Given the description of an element on the screen output the (x, y) to click on. 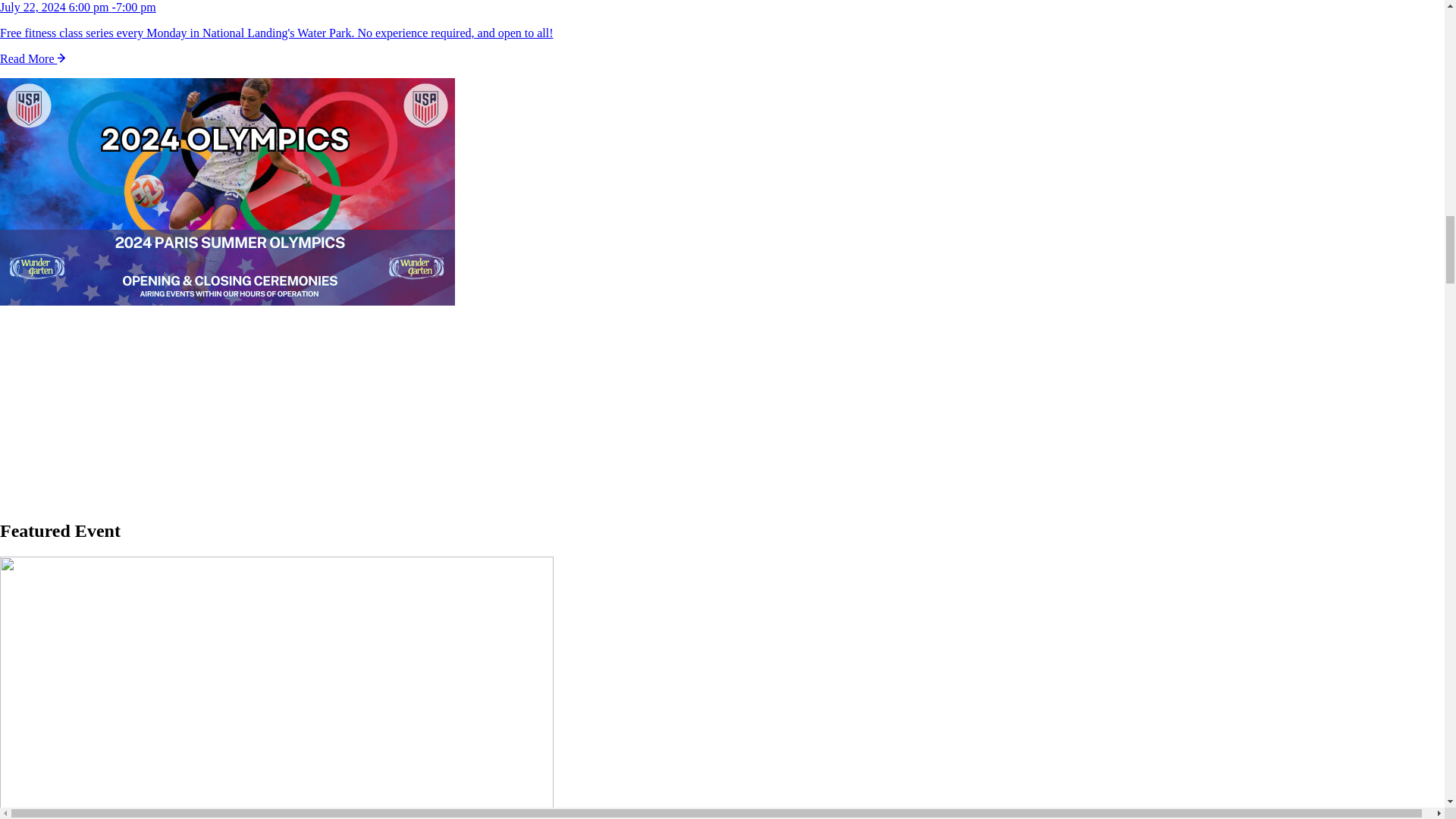
2024 Olympics  (227, 192)
